Given the description of an element on the screen output the (x, y) to click on. 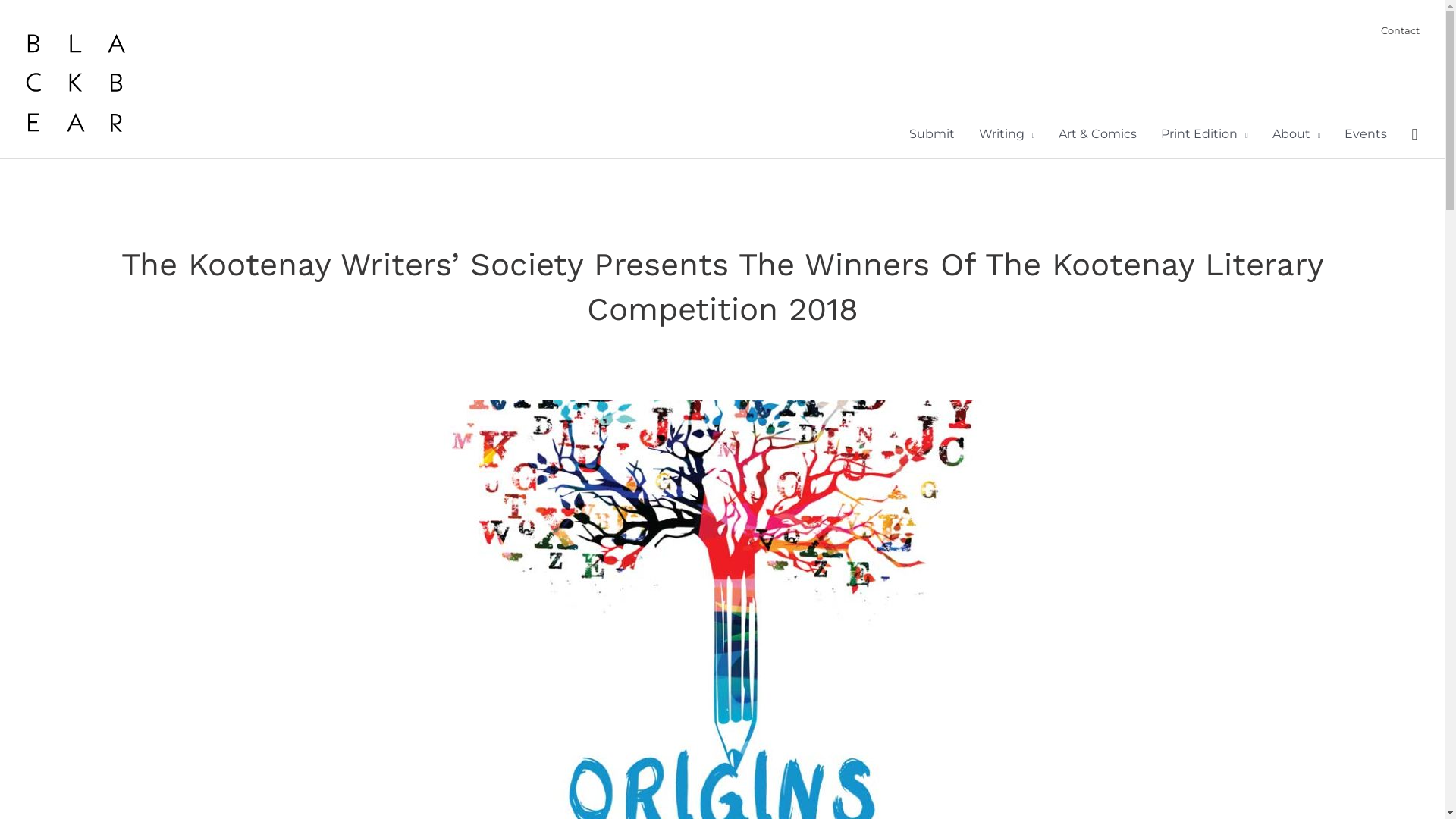
Submit Element type: text (931, 133)
Search Element type: text (1414, 134)
Print Edition Element type: text (1204, 133)
Events Element type: text (1365, 133)
Writing Element type: text (1006, 133)
Contact Element type: text (1404, 30)
Art & Comics Element type: text (1097, 133)
About Element type: text (1296, 133)
